Given the description of an element on the screen output the (x, y) to click on. 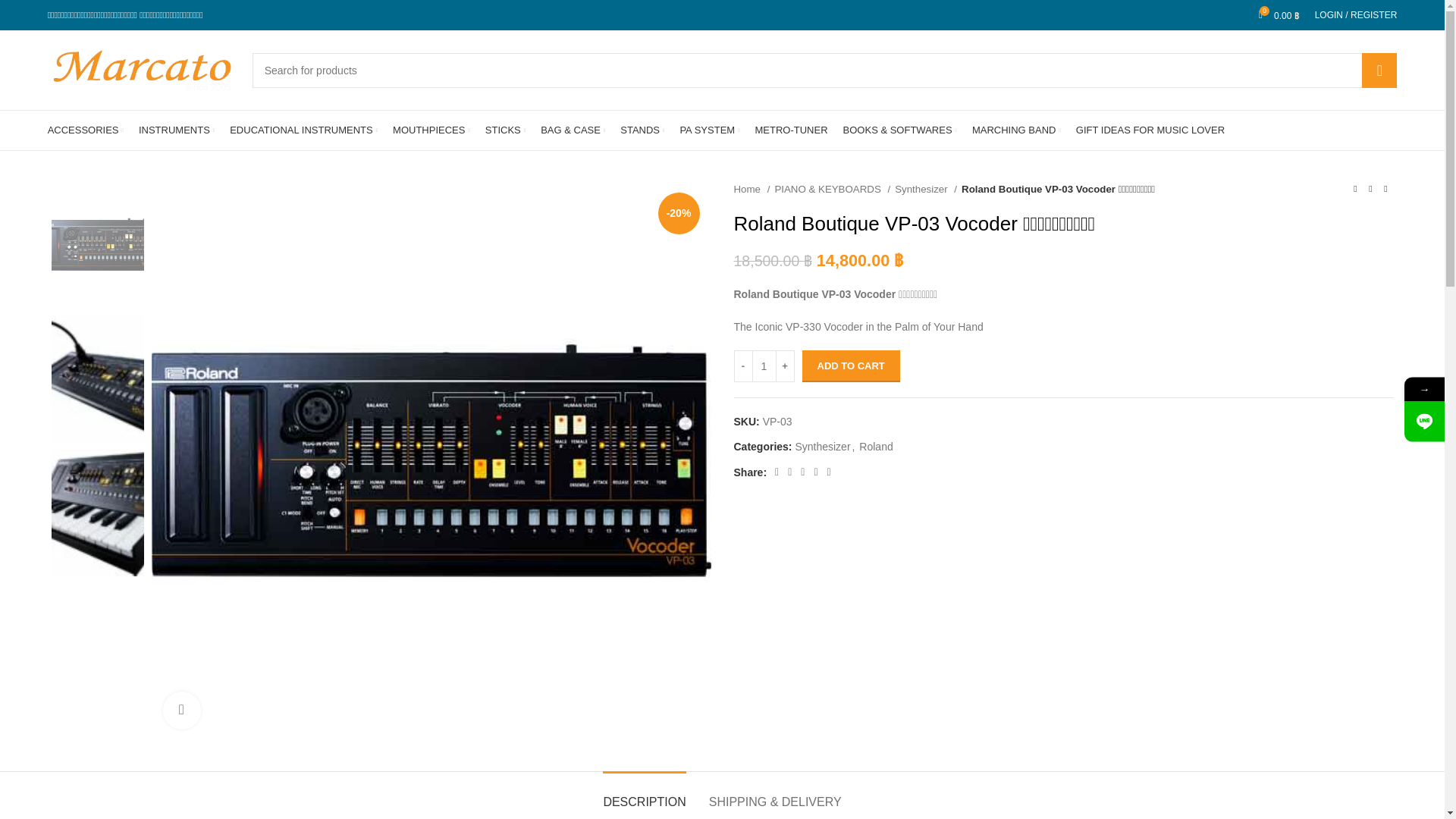
My account (1356, 15)
Shopping cart (1278, 15)
Search for products (824, 70)
INSTRUMENTS (176, 130)
ACCESSORIES (85, 130)
SEARCH (1378, 70)
